Given the description of an element on the screen output the (x, y) to click on. 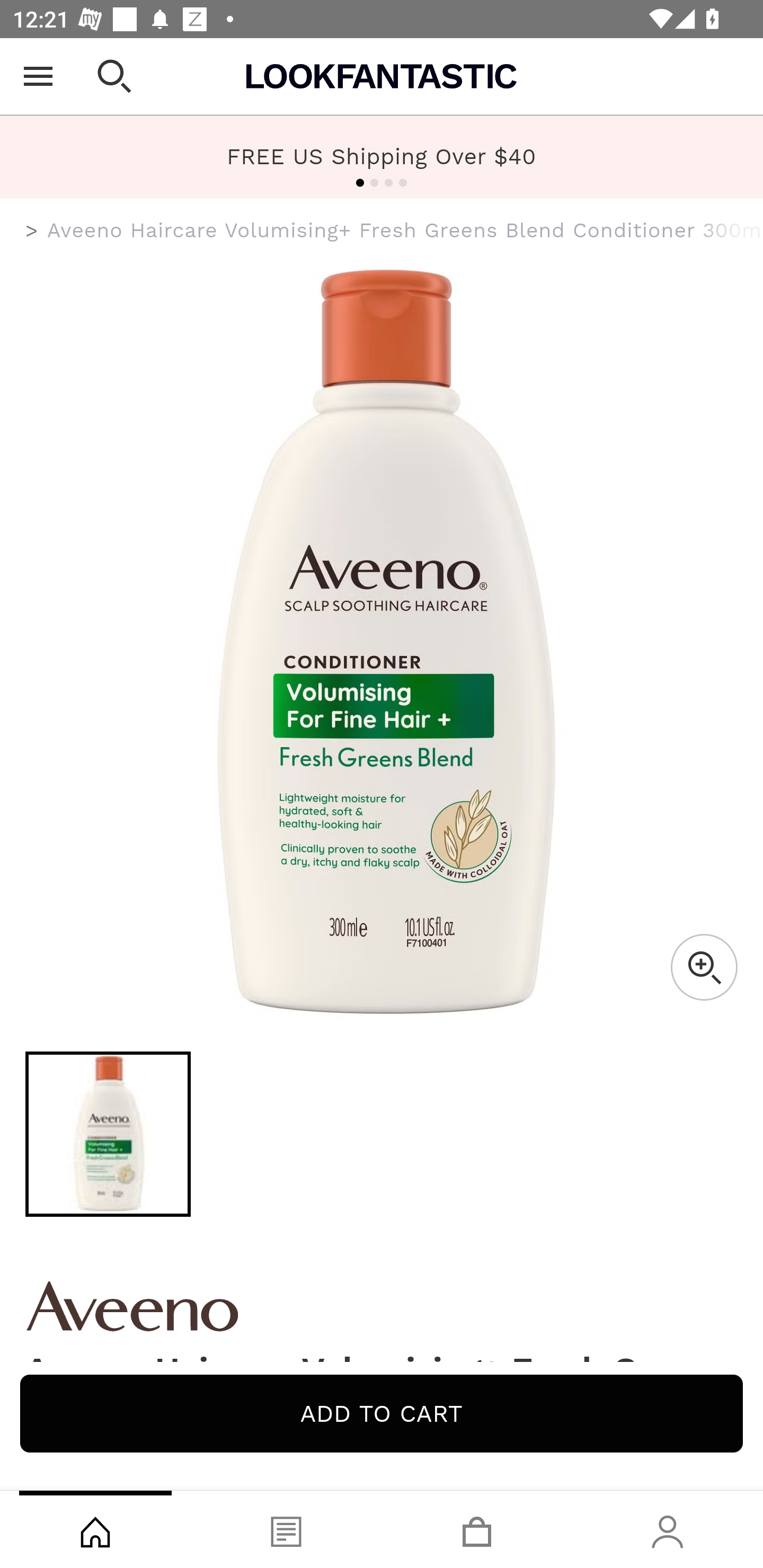
Open Menu (38, 75)
Open search (114, 75)
Lookfantastic USA (381, 75)
FREE US Shipping Over $40 (381, 157)
FREE US Shipping Over $40 (381, 155)
us.lookfantastic (32, 230)
Zoom (703, 966)
Aveeno (381, 1305)
Add to cart (381, 1413)
Shop, tab, 1 of 4 (95, 1529)
Blog, tab, 2 of 4 (285, 1529)
Basket, tab, 3 of 4 (476, 1529)
Account, tab, 4 of 4 (667, 1529)
